Given the description of an element on the screen output the (x, y) to click on. 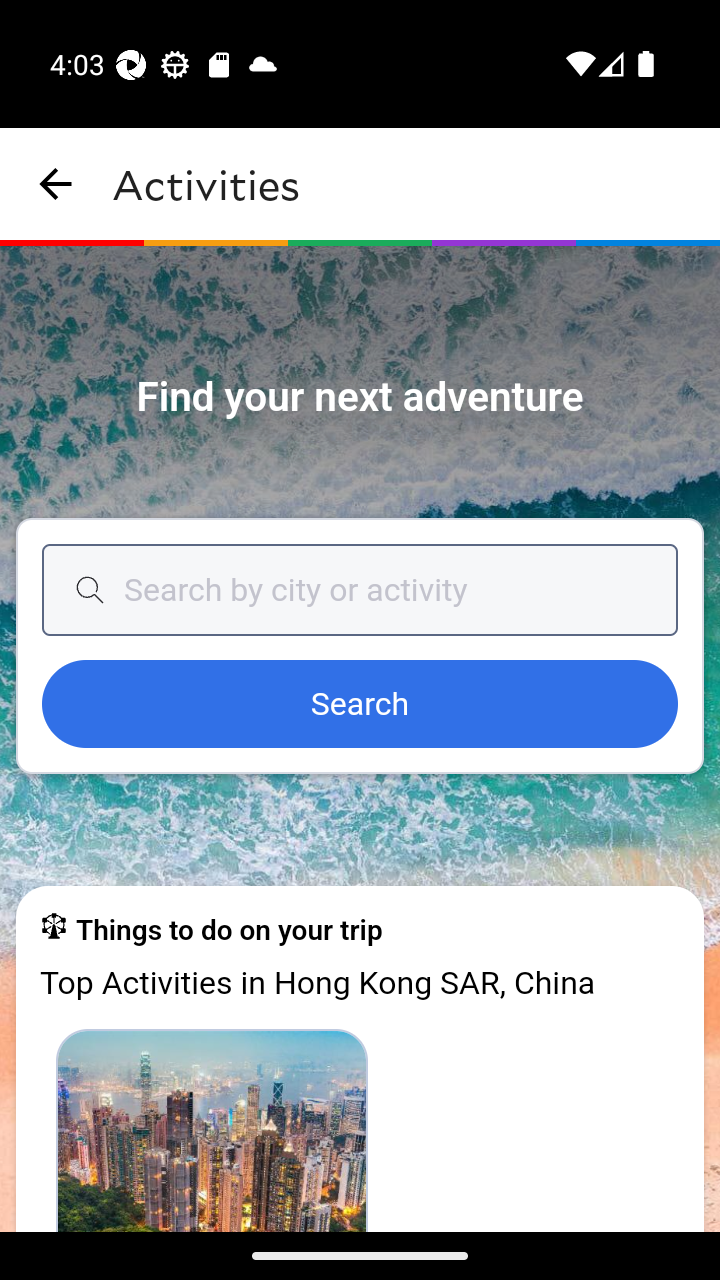
navigation_button (56, 184)
Search (359, 705)
Find top deals Hong Kong Find top deals (211, 1129)
